Given the description of an element on the screen output the (x, y) to click on. 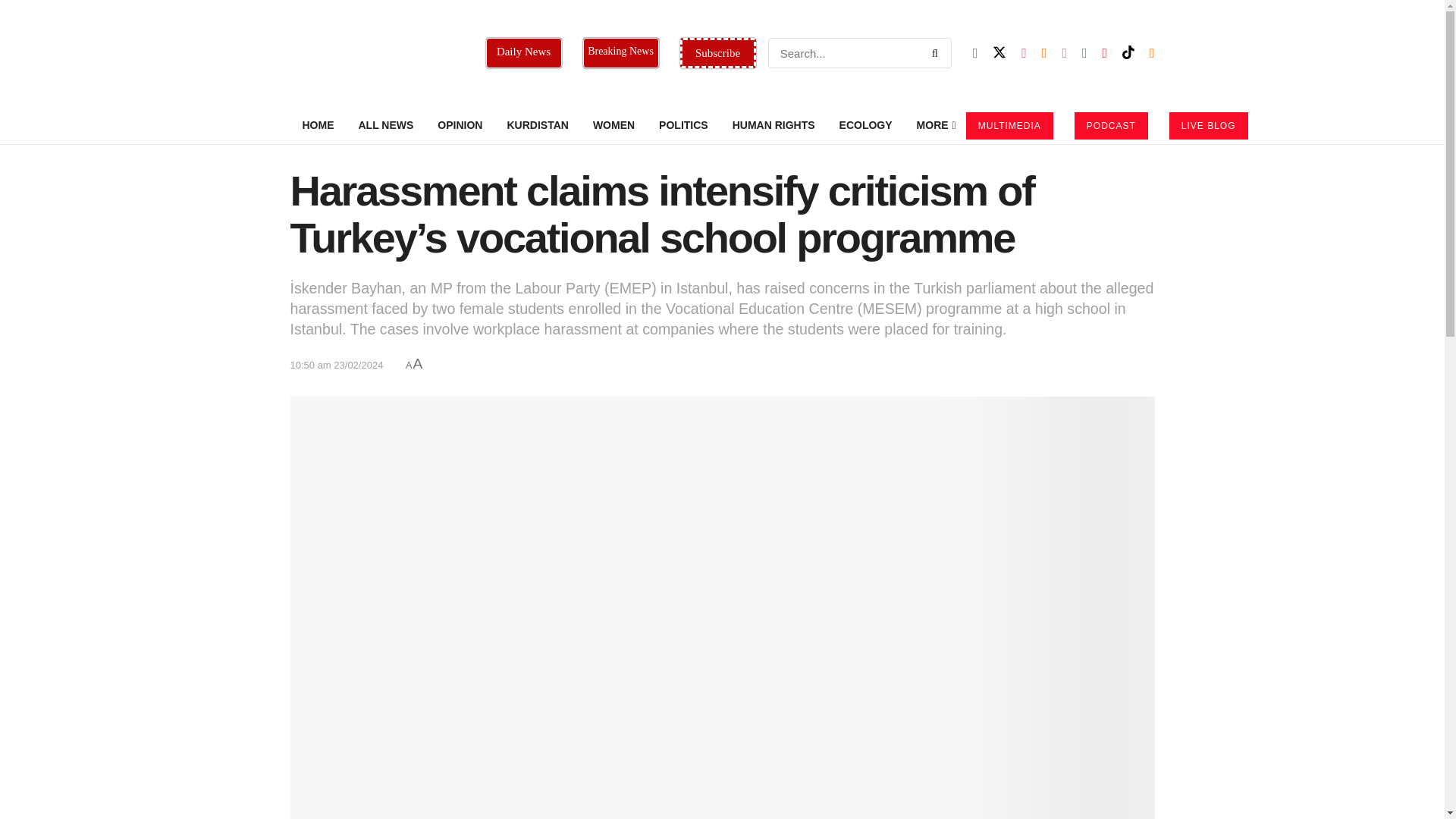
HUMAN RIGHTS (773, 125)
Daily News (522, 52)
LIVE BLOG (1208, 125)
MULTIMEDIA (1009, 125)
WOMEN (613, 125)
POLITICS (683, 125)
Subscribe (717, 52)
MORE (935, 125)
KURDISTAN (537, 125)
Breaking News (620, 52)
PODCAST (1111, 125)
OPINION (460, 125)
ALL NEWS (385, 125)
HOME (317, 125)
ECOLOGY (865, 125)
